Given the description of an element on the screen output the (x, y) to click on. 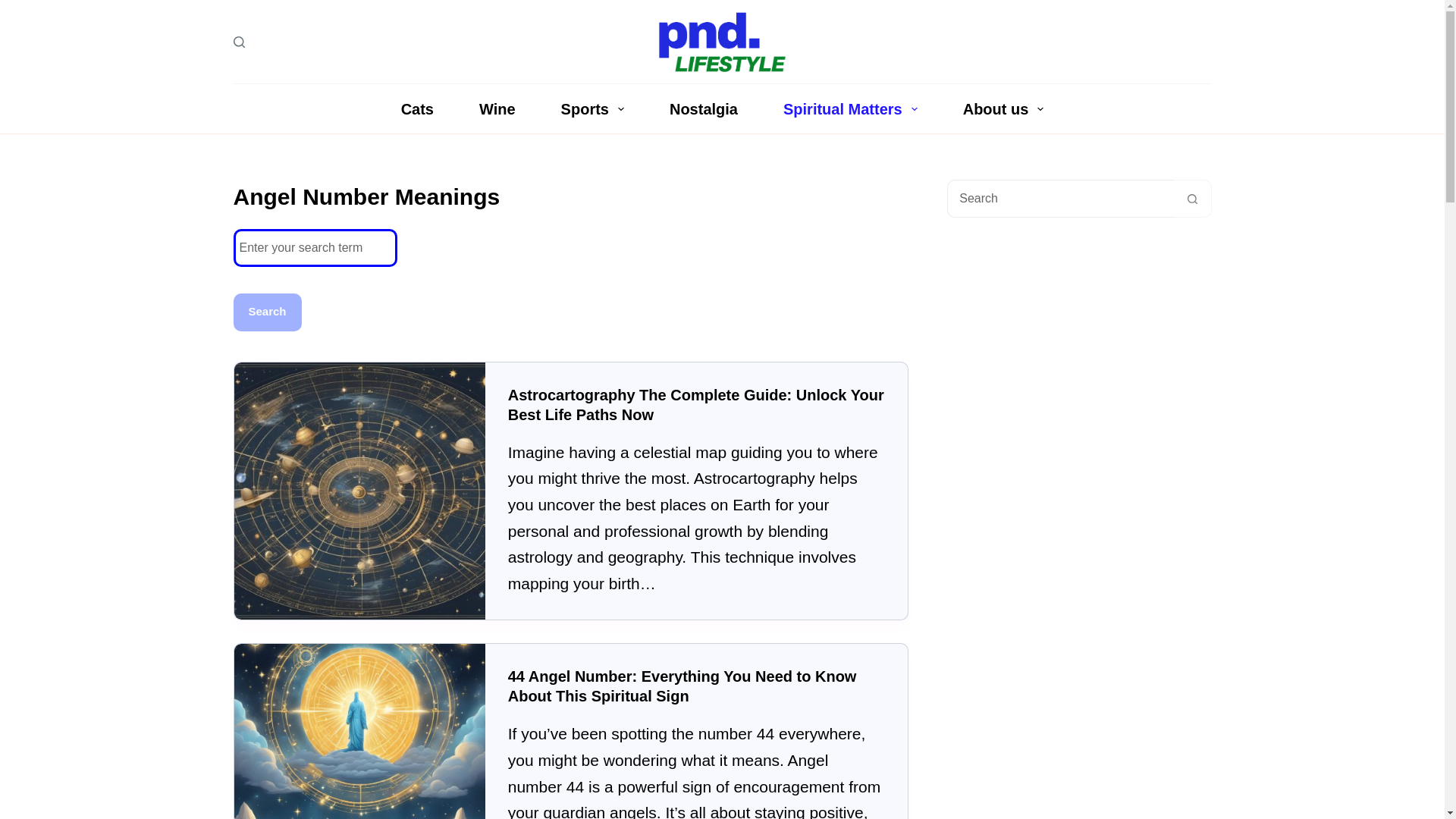
Skip to content (15, 7)
Search for... (1060, 198)
Wine (497, 108)
Nostalgia (703, 108)
Cats (417, 108)
Sports (592, 108)
Spiritual Matters (850, 108)
Angel Number Meanings (570, 196)
